Given the description of an element on the screen output the (x, y) to click on. 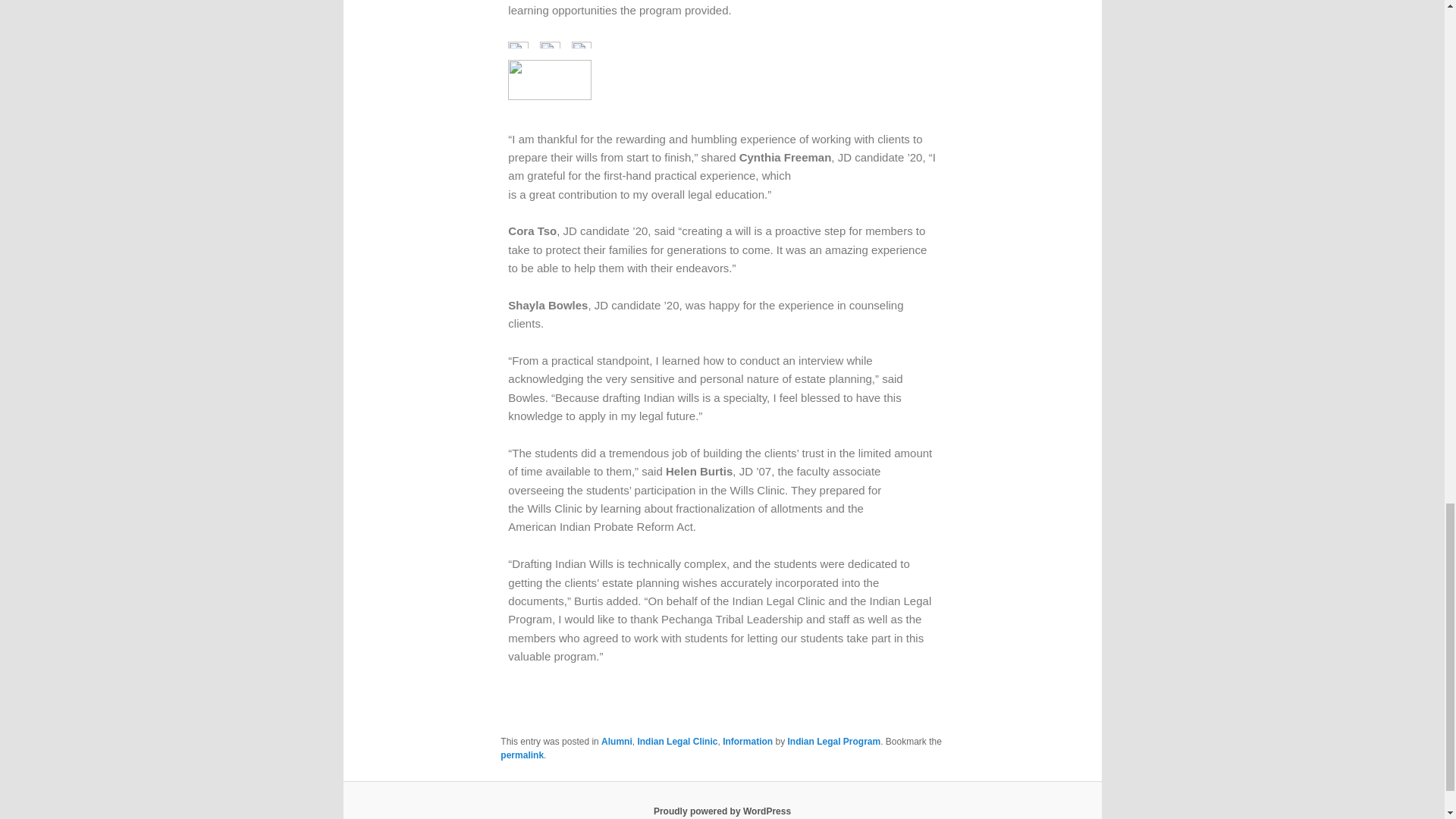
Semantic Personal Publishing Platform (721, 810)
Information (747, 741)
Permalink to Pechanga Wills Clinic (521, 755)
Proudly powered by WordPress (721, 810)
Indian Legal Program (833, 741)
Alumni (616, 741)
Indian Legal Clinic (677, 741)
permalink (521, 755)
